Given the description of an element on the screen output the (x, y) to click on. 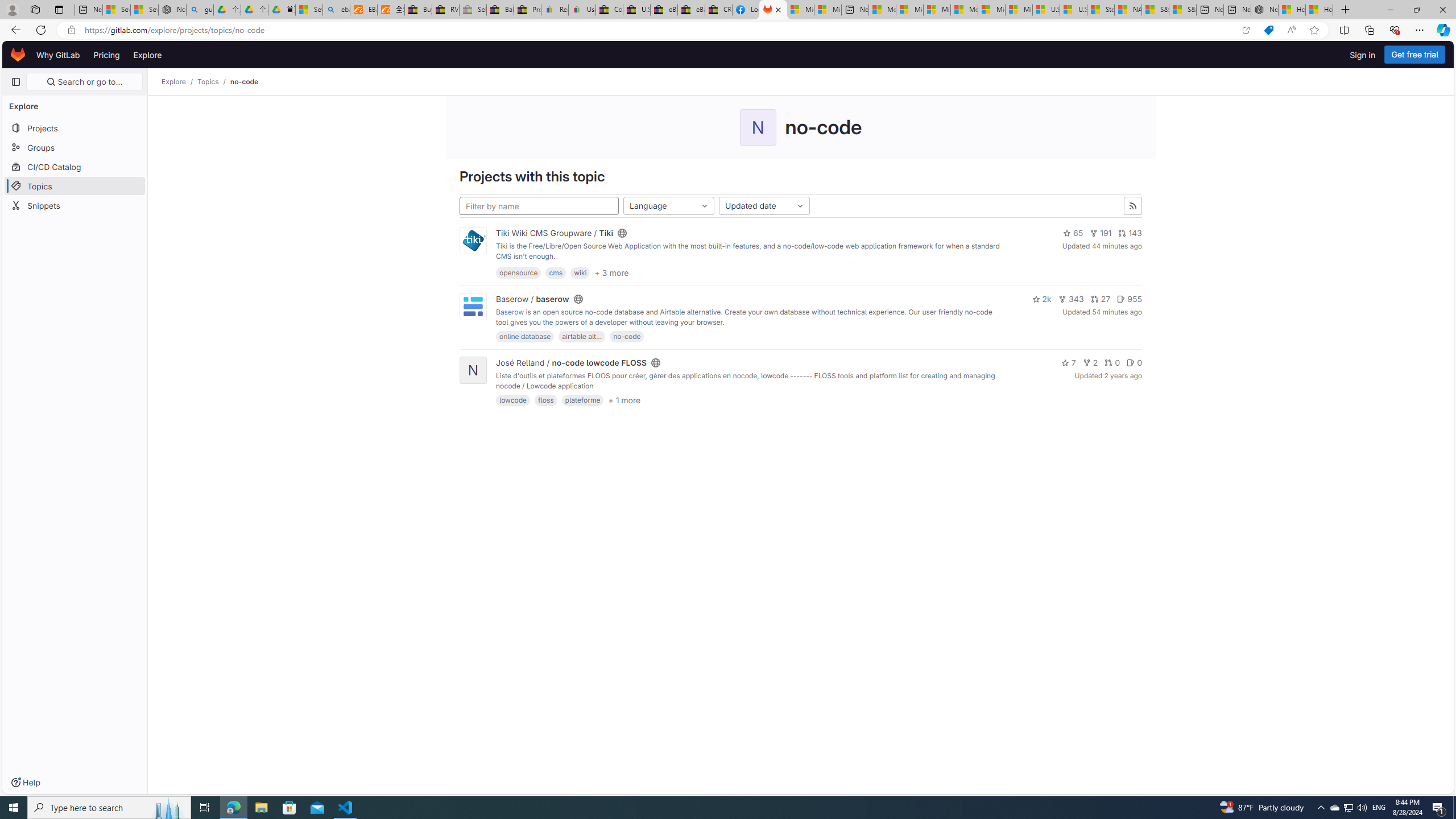
Sign in (1362, 54)
floss (545, 399)
Press Room - eBay Inc. (527, 9)
guge yunpan - Search (200, 9)
Projects (74, 127)
Topics/ (214, 81)
27 (1100, 299)
Help (25, 782)
Class: s16 dropdown-menu-toggle-icon (799, 206)
Topics (208, 81)
Get free trial (1414, 54)
